Given the description of an element on the screen output the (x, y) to click on. 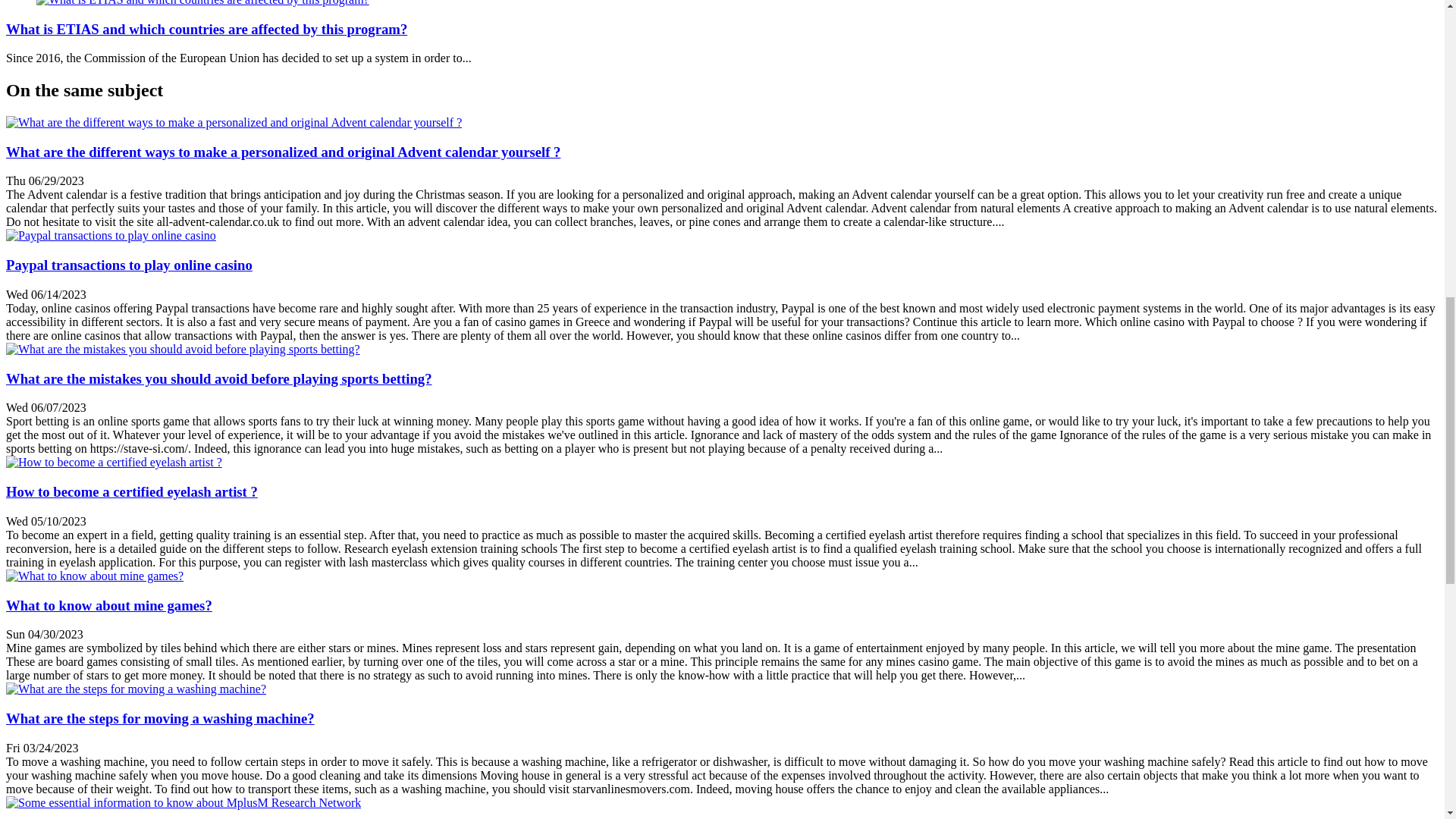
What are the steps for moving a washing machine? (135, 688)
What are the steps for moving a washing machine? (159, 718)
What to know about mine games? (108, 605)
How to become a certified eyelash artist ? (131, 491)
Paypal transactions to play online casino (128, 264)
What to know about mine games? (108, 605)
